Given the description of an element on the screen output the (x, y) to click on. 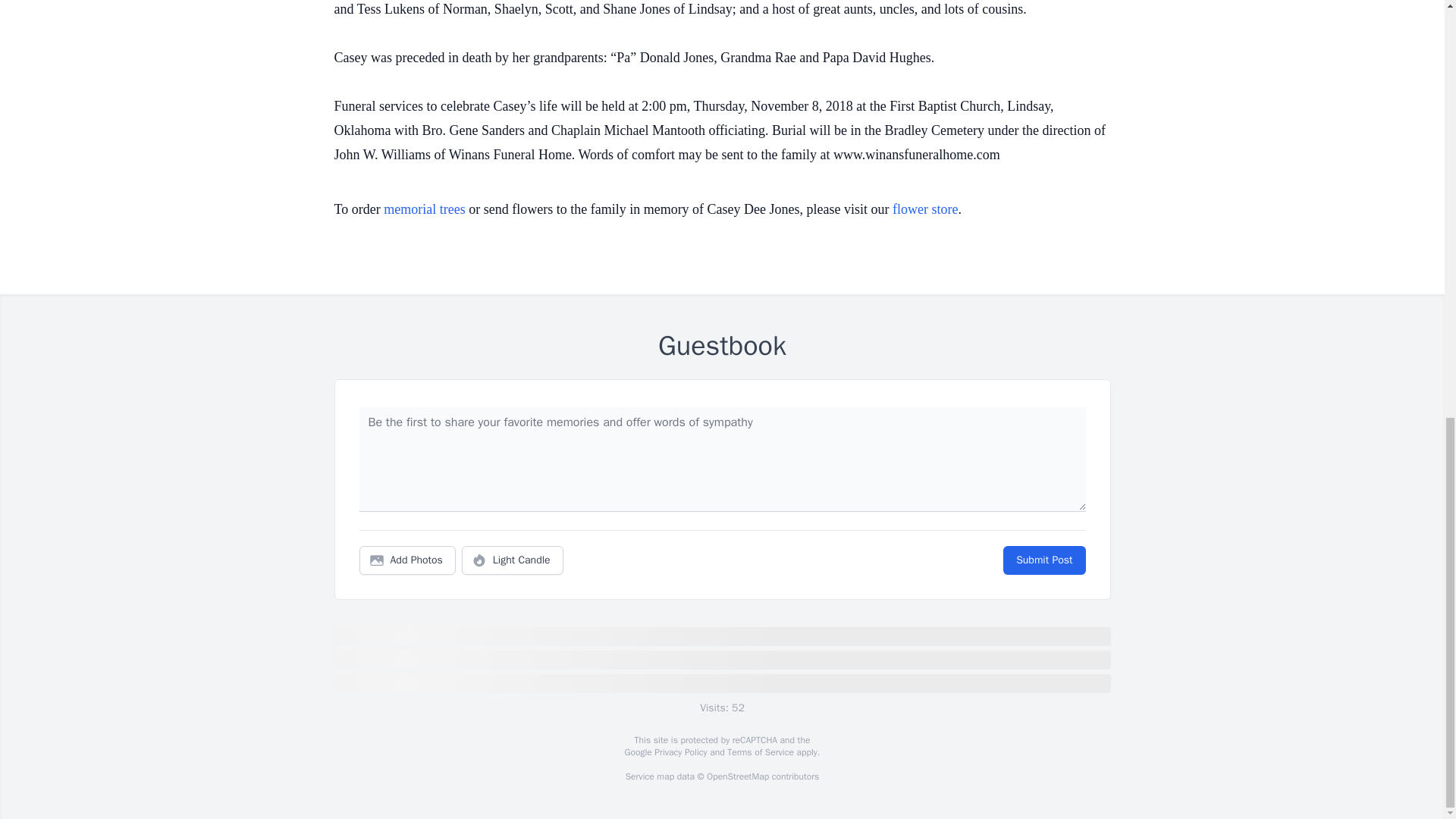
Submit Post (1043, 560)
Terms of Service (759, 752)
flower store (925, 209)
Add Photos (407, 560)
memorial trees (424, 209)
Light Candle (512, 560)
OpenStreetMap (737, 776)
Privacy Policy (679, 752)
